Given the description of an element on the screen output the (x, y) to click on. 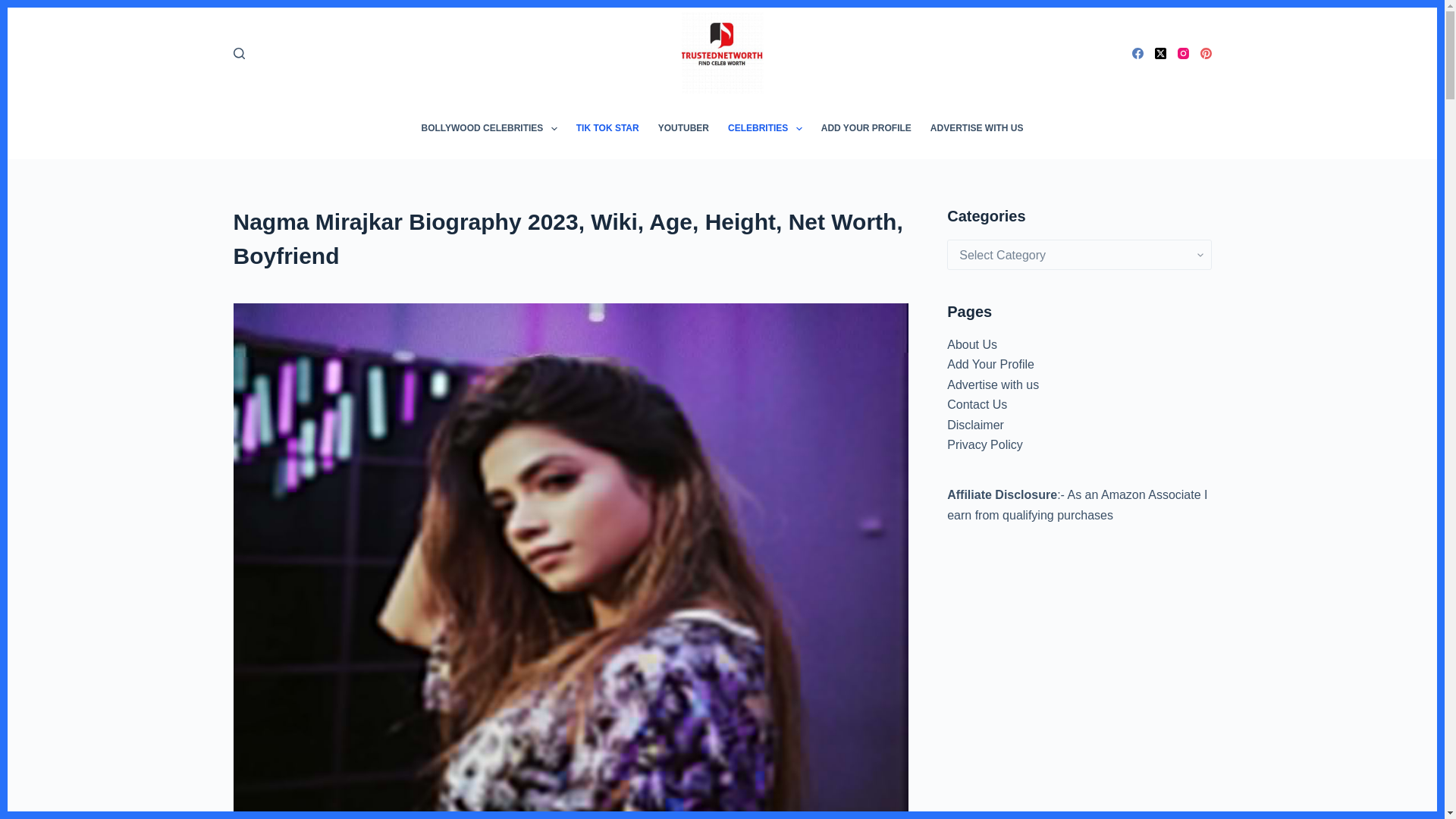
YOUTUBER (682, 128)
CELEBRITIES (765, 128)
TIK TOK STAR (606, 128)
Skip to content (15, 7)
BOLLYWOOD CELEBRITIES (489, 128)
